Given the description of an element on the screen output the (x, y) to click on. 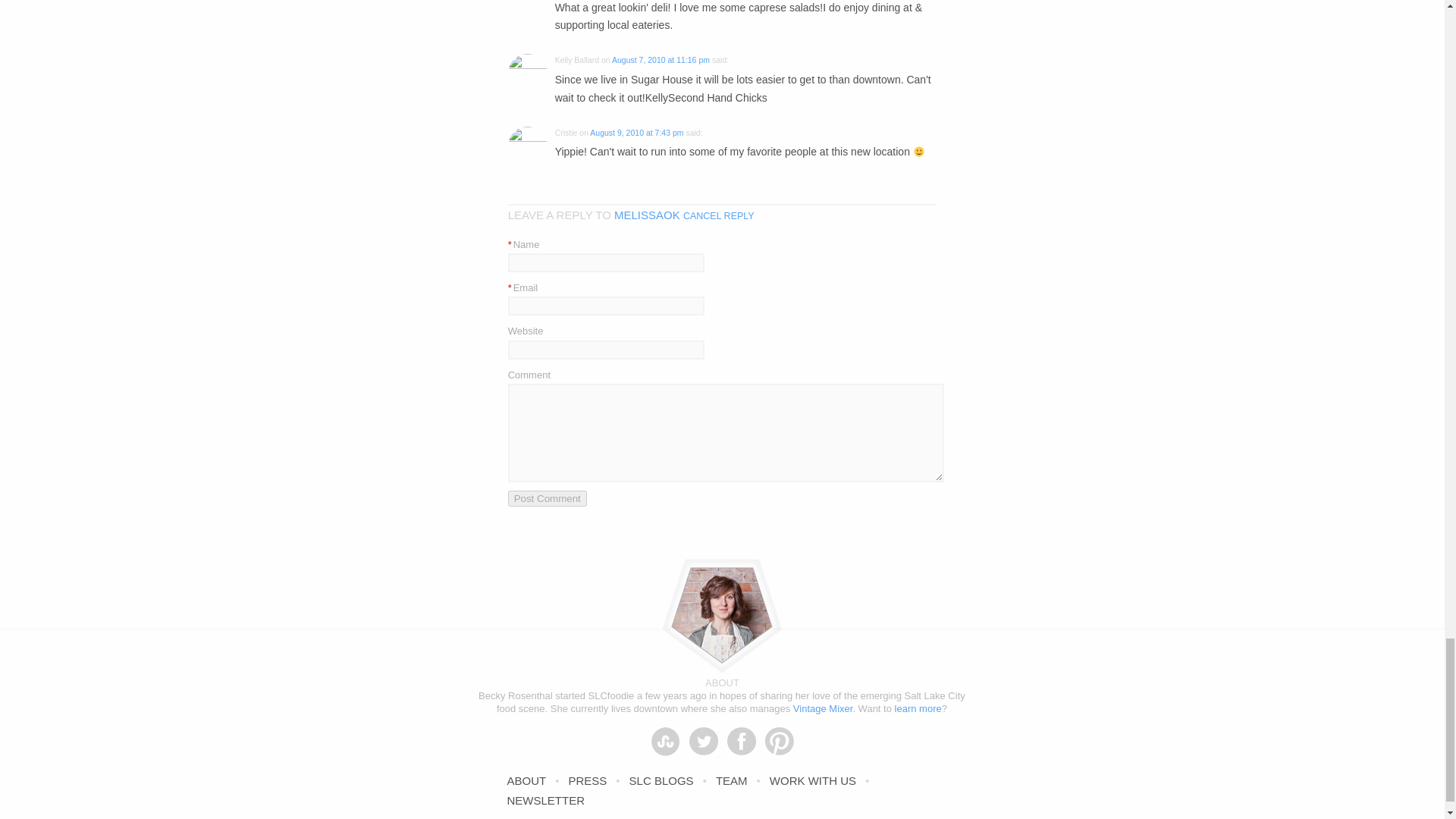
Post Comment (547, 498)
